Given the description of an element on the screen output the (x, y) to click on. 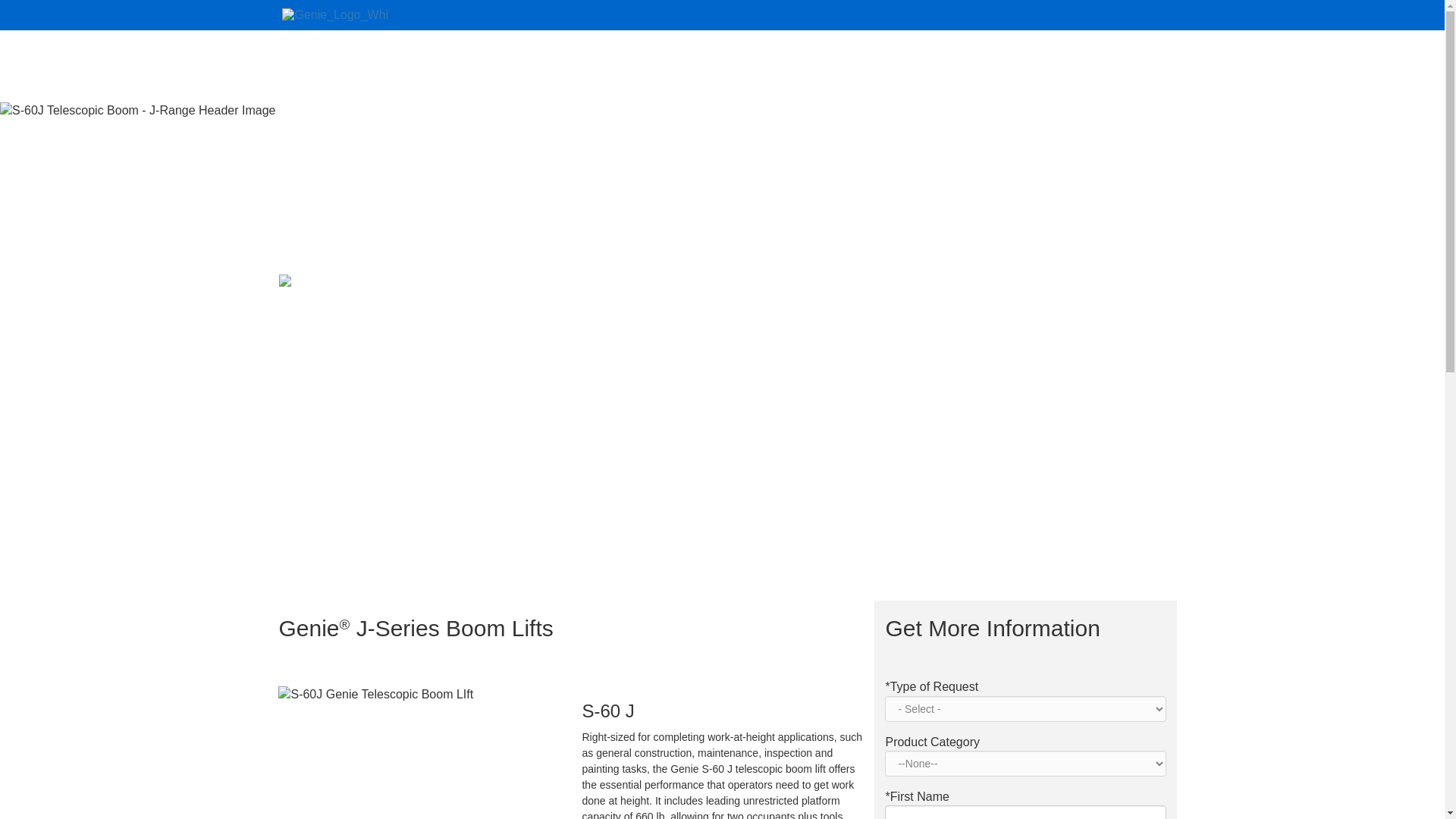
Product Type (1025, 763)
Booms Family Brochure 2020 (525, 506)
S-60J Genie Telescopic Boom LIft (418, 694)
Booms Family Brochure 2020 (525, 506)
